Given the description of an element on the screen output the (x, y) to click on. 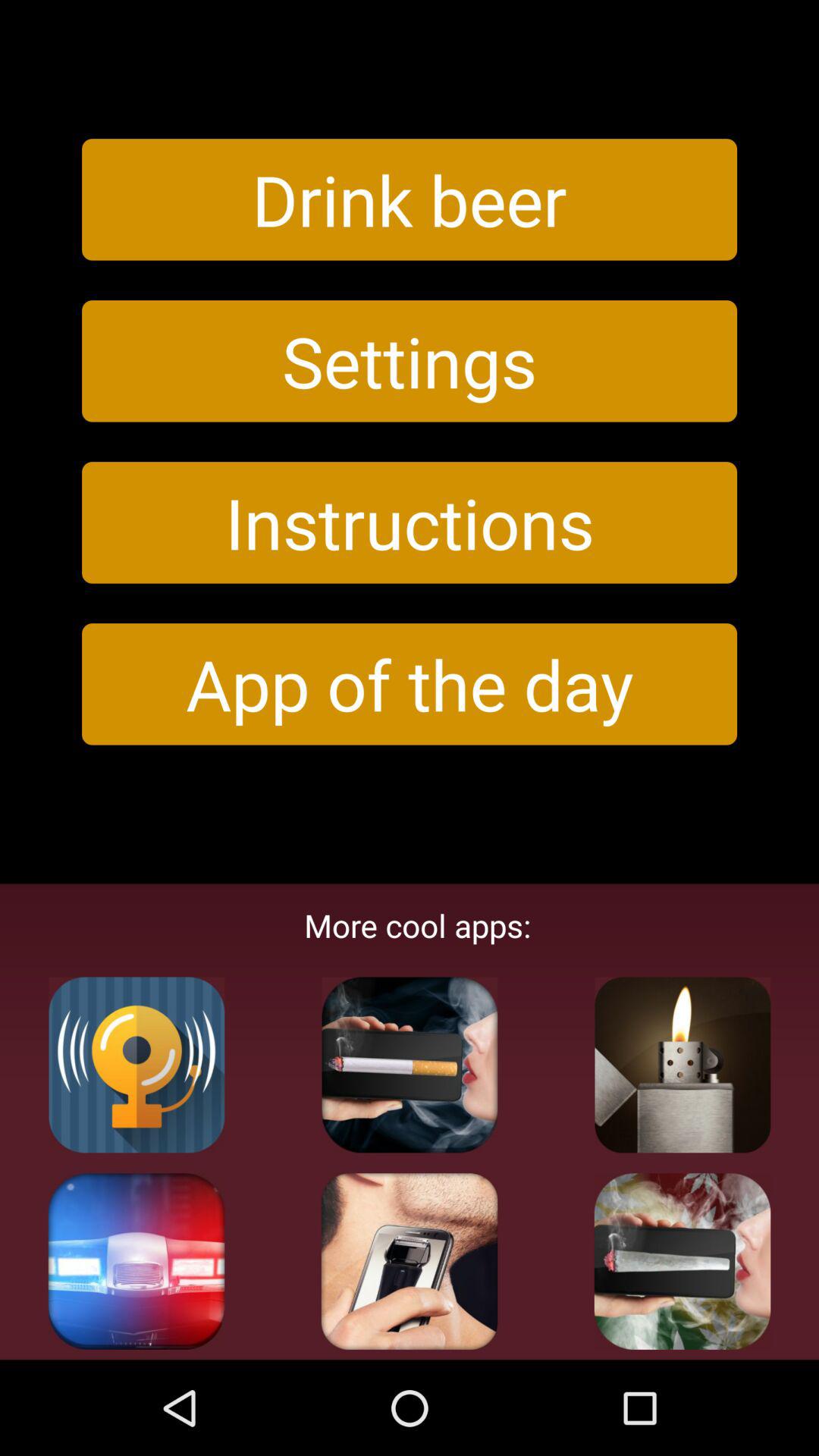
swipe until settings icon (409, 361)
